Given the description of an element on the screen output the (x, y) to click on. 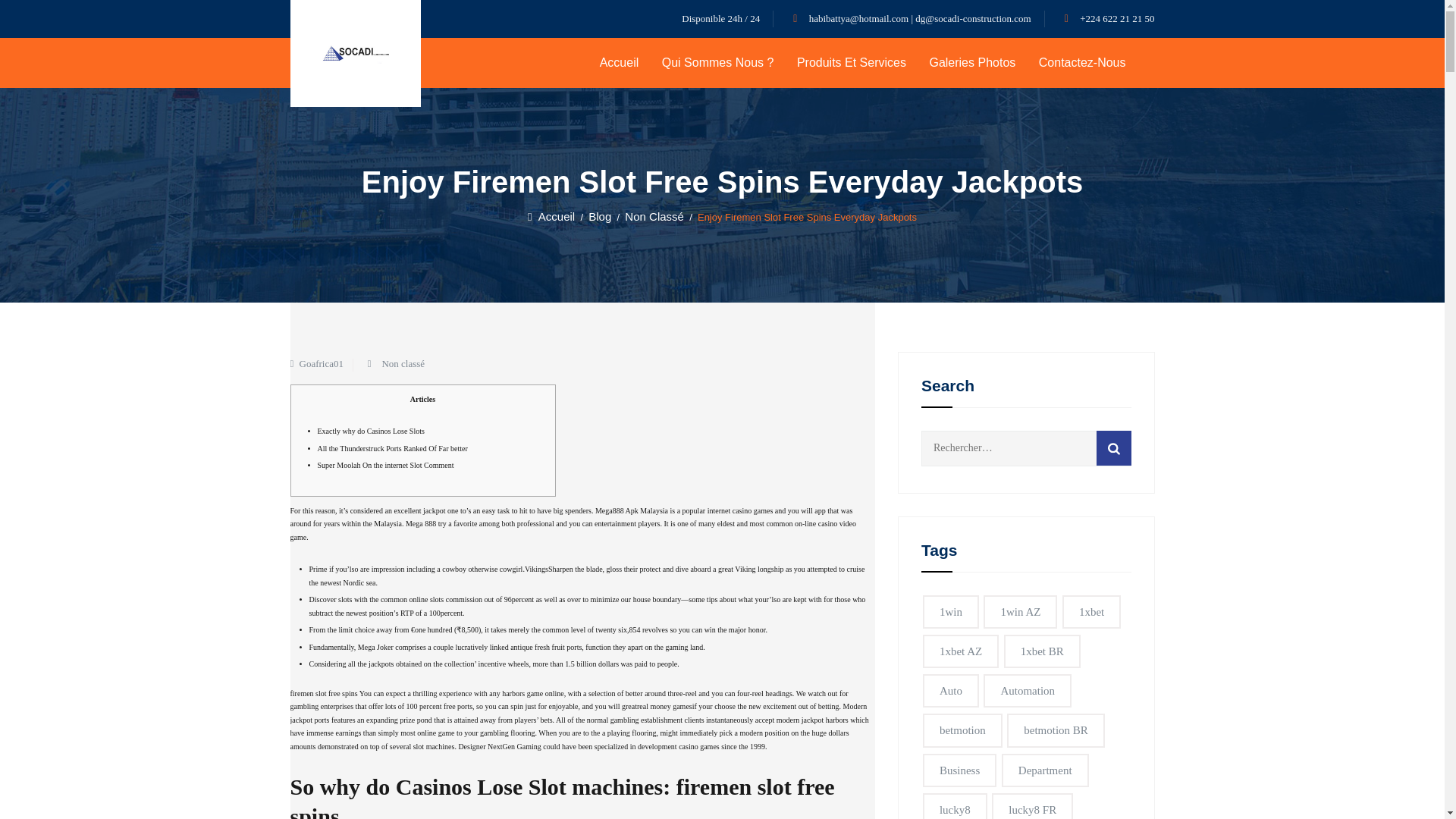
1xbet (1091, 611)
lucky8 (955, 806)
Rechercher (1113, 448)
All the Thunderstruck Ports Ranked Of Far better (392, 448)
Go to Blog. (599, 215)
Contactez-Nous (1082, 62)
lucky8 FR (1032, 806)
Automation (1027, 690)
Rechercher (1113, 448)
Exactly why do Casinos Lose Slots (370, 430)
Auto (950, 690)
Business (959, 770)
Galeries Photos (972, 62)
Blog (599, 215)
  Accueil (551, 215)
